Given the description of an element on the screen output the (x, y) to click on. 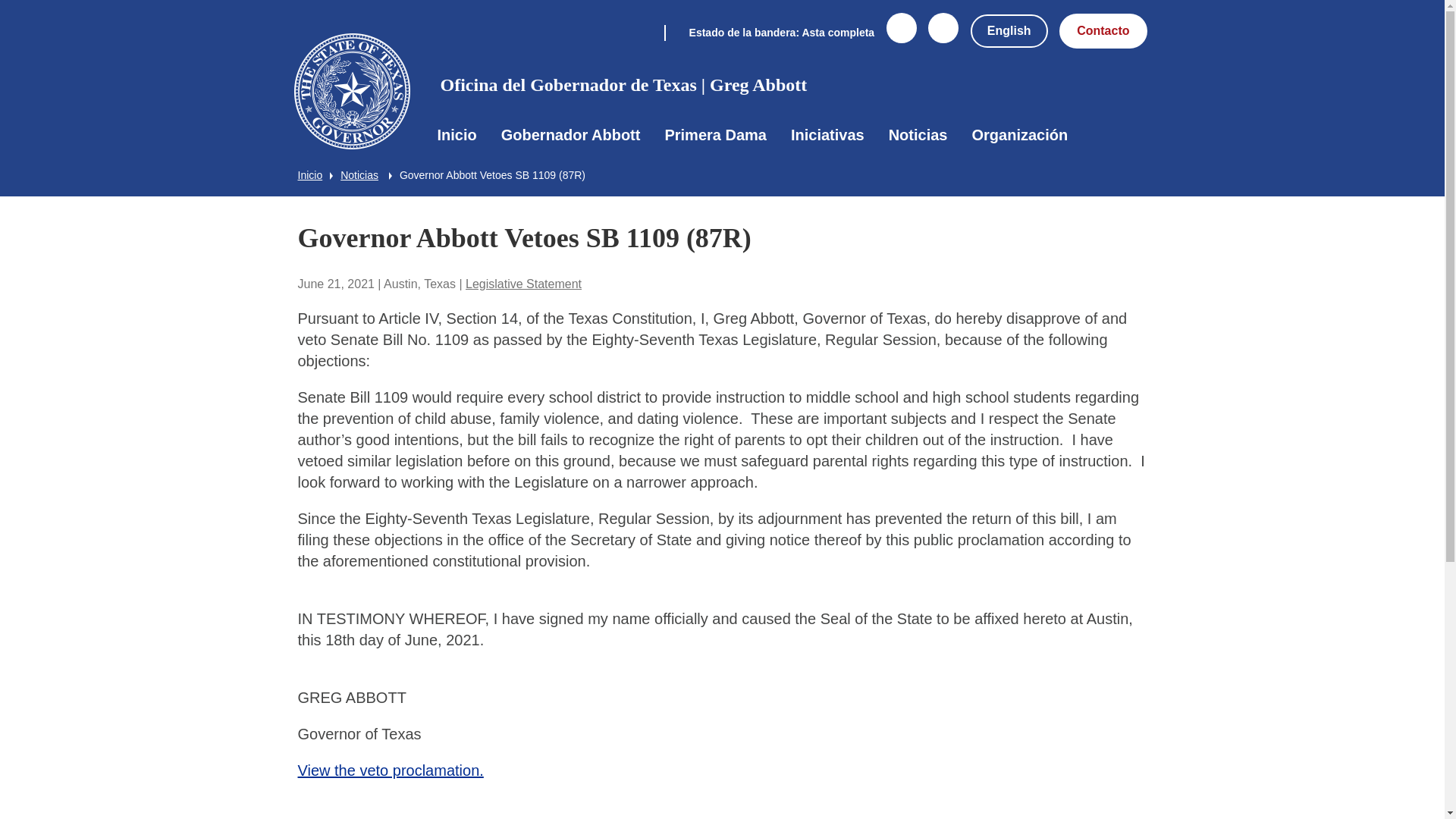
Primera Dama (715, 135)
English (1009, 29)
Iniciativas (827, 135)
Contacto (1103, 30)
Estado de la bandera Asta completa (769, 31)
Gobernador Abbott (570, 135)
Inicio (456, 135)
Facebook (901, 37)
Twitter (943, 37)
